Given the description of an element on the screen output the (x, y) to click on. 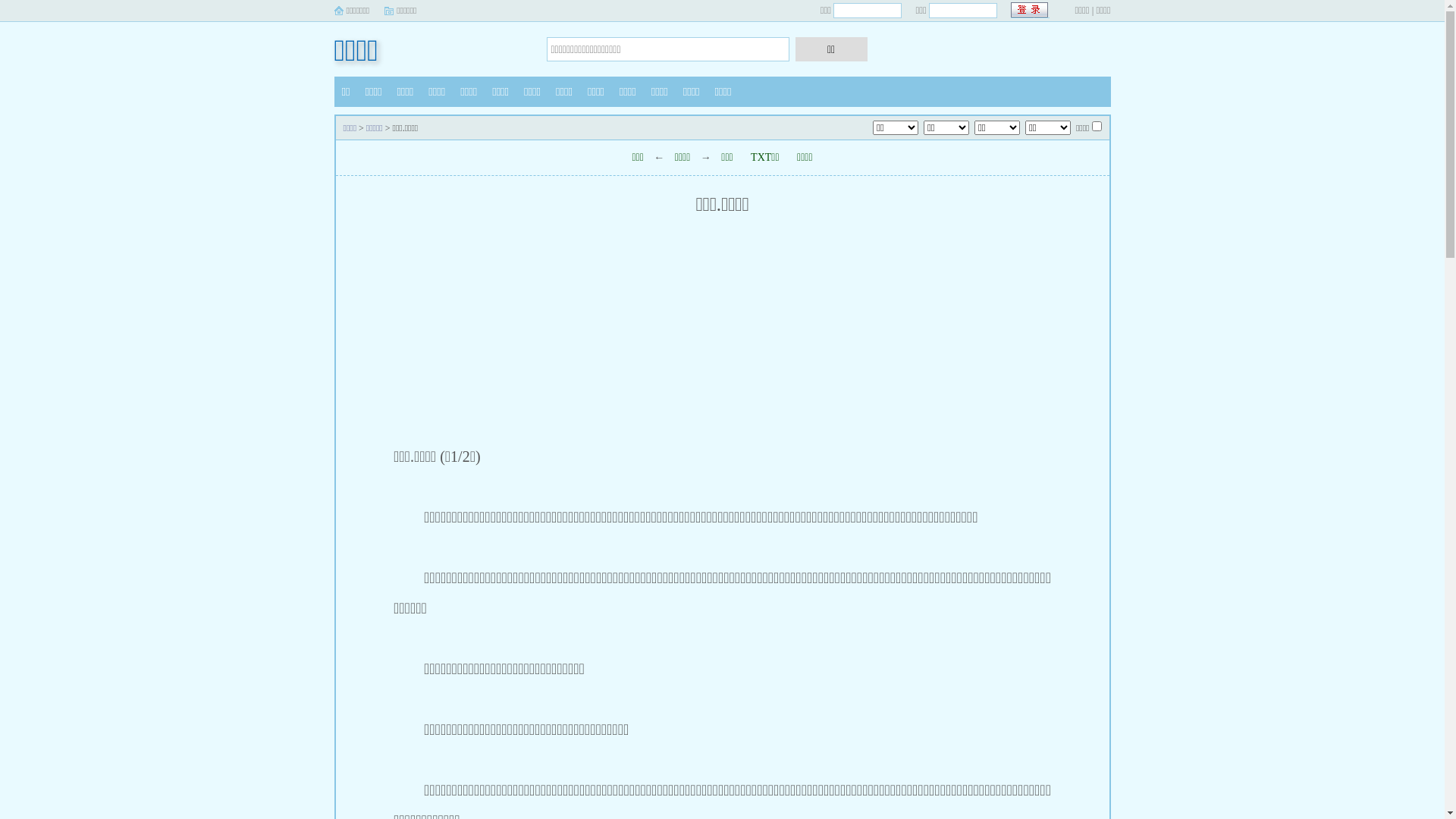
  Element type: text (1029, 10)
